Given the description of an element on the screen output the (x, y) to click on. 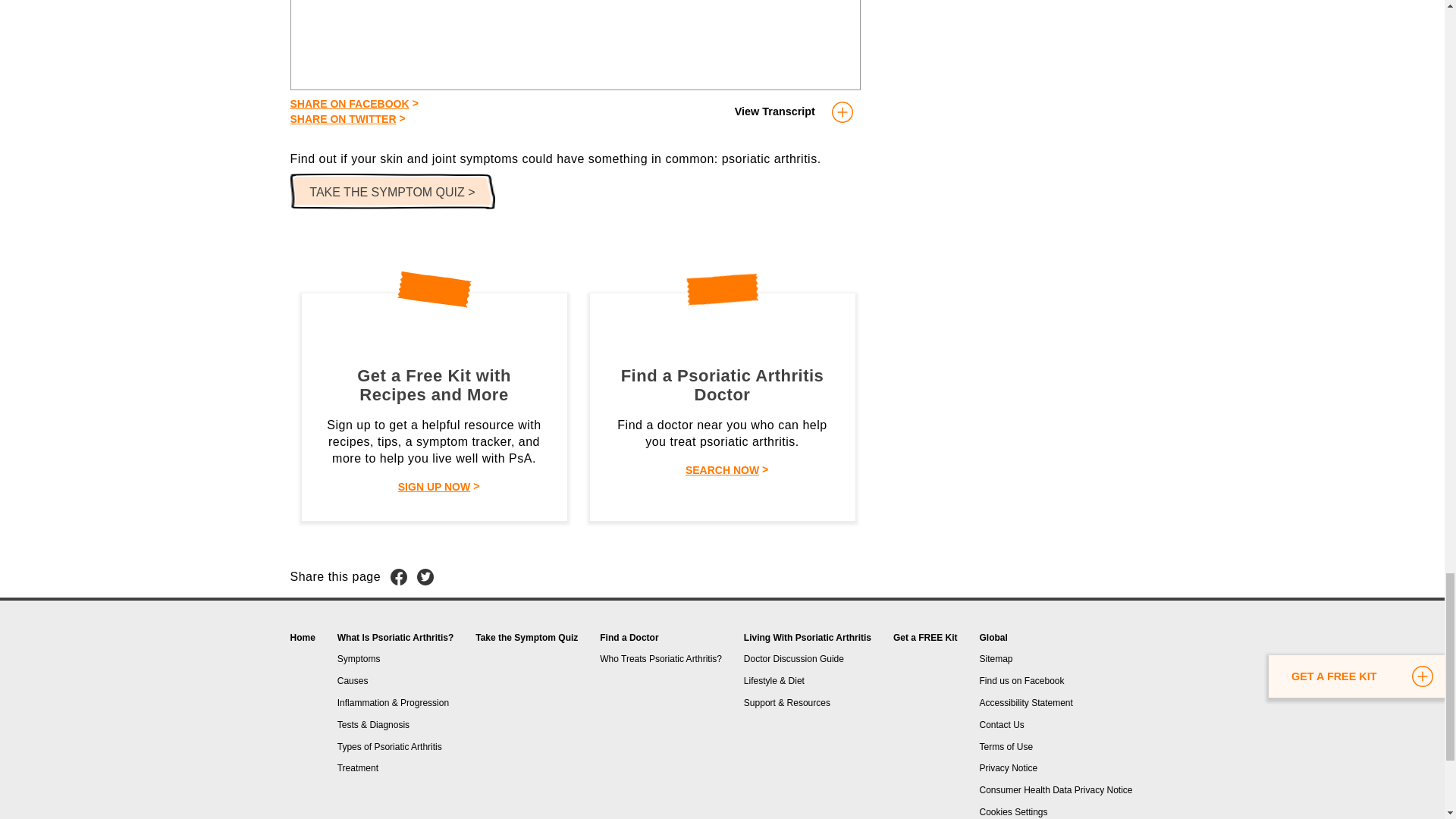
SHARE ON TWITTER (342, 118)
SHARE ON FACEBOOK (349, 103)
Cookies Settings (1012, 811)
